Given the description of an element on the screen output the (x, y) to click on. 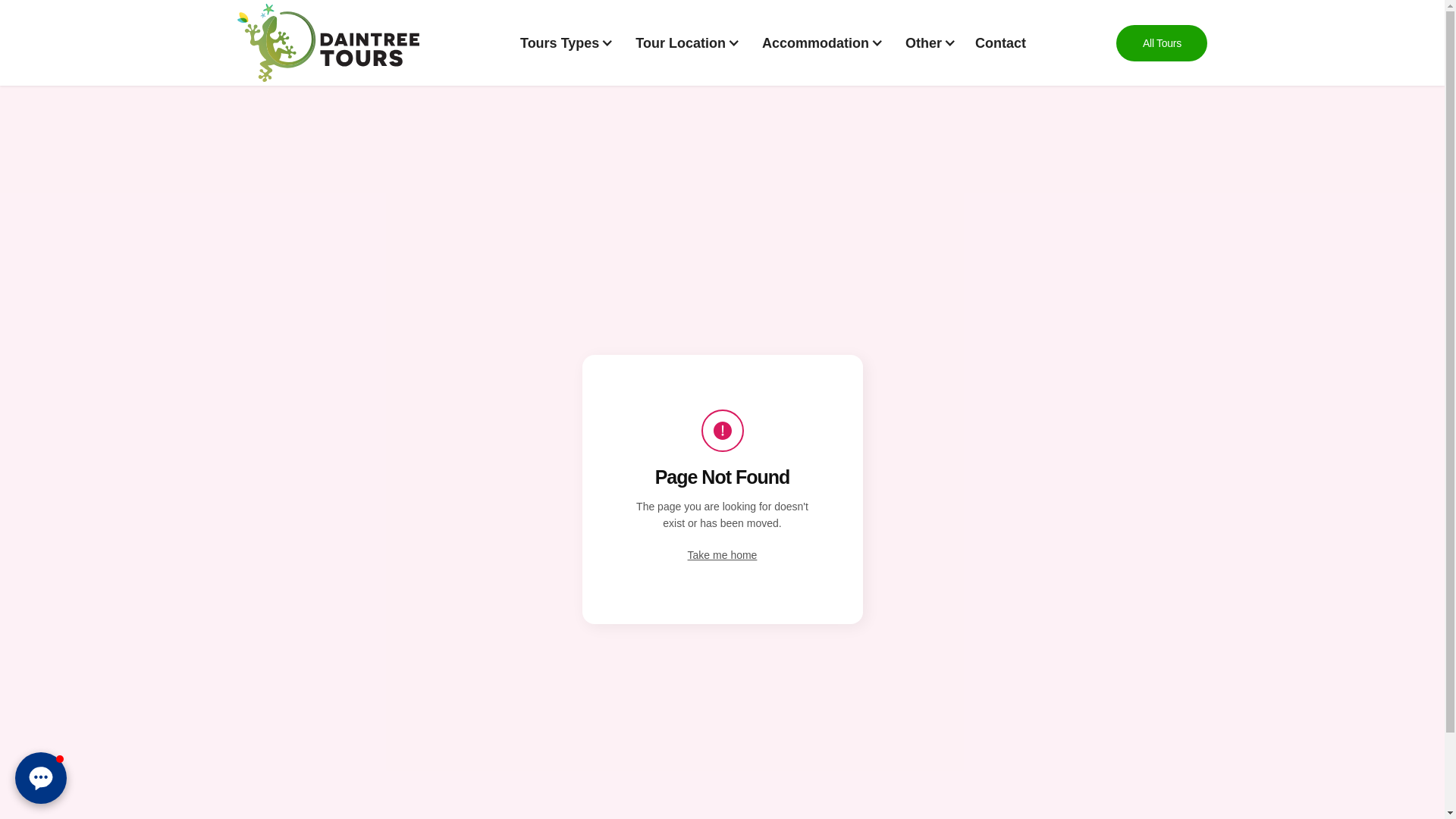
Take me home Element type: text (722, 554)
All Tours Element type: text (1161, 43)
Contact Element type: text (1000, 42)
